Given the description of an element on the screen output the (x, y) to click on. 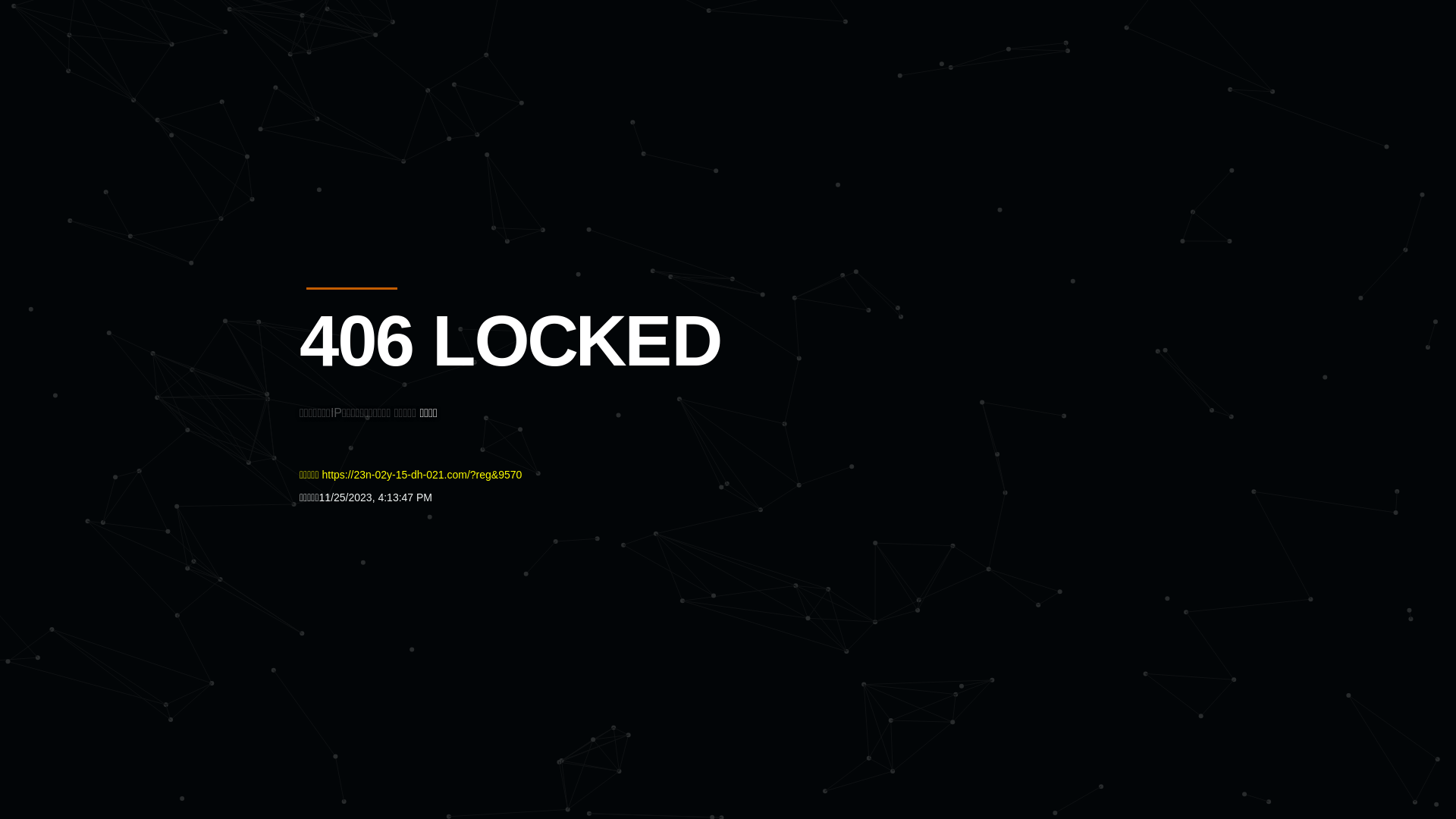
Quatro Element type: text (410, 86)
